Given the description of an element on the screen output the (x, y) to click on. 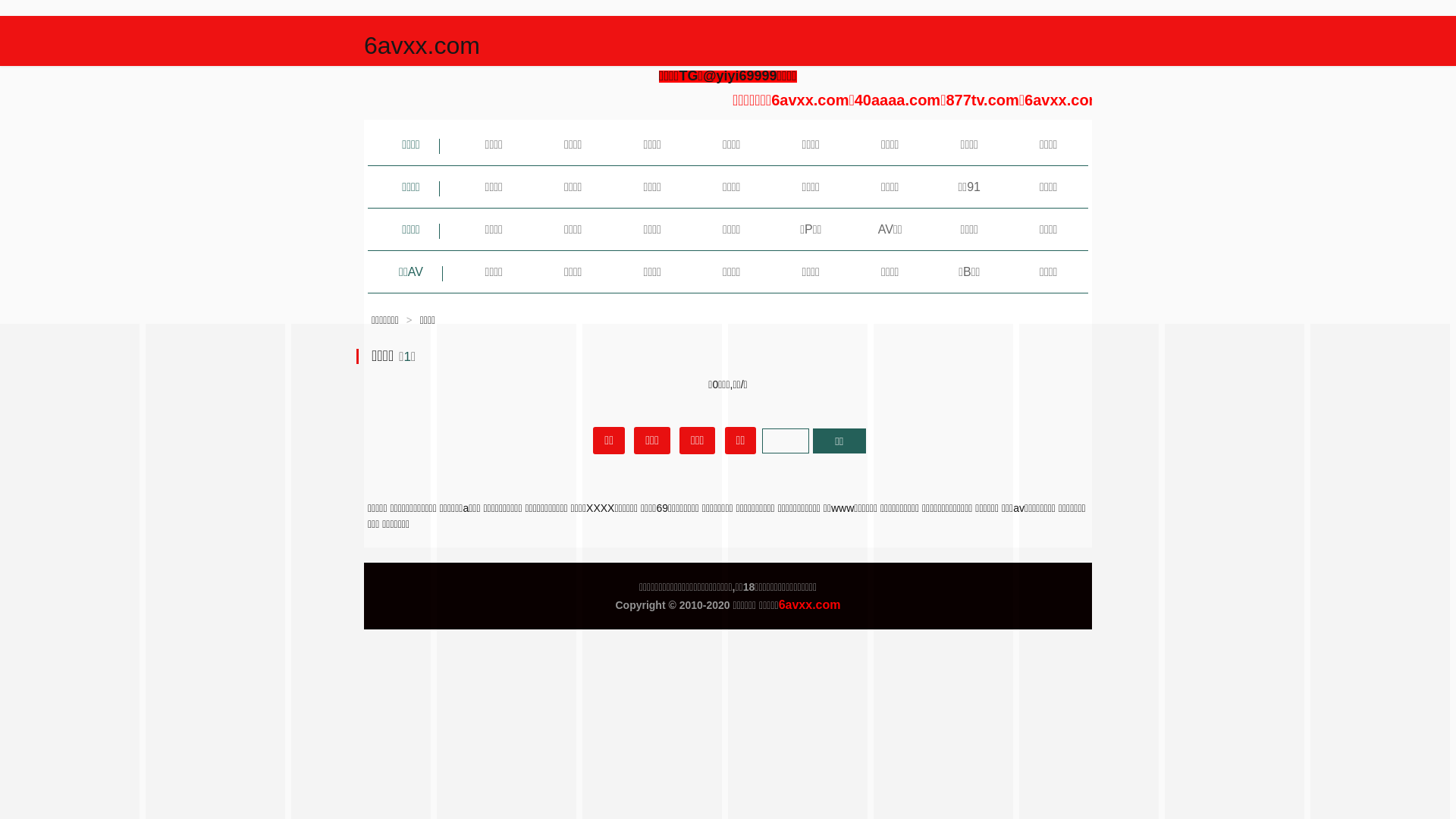
6avxx.com Element type: text (422, 45)
